Given the description of an element on the screen output the (x, y) to click on. 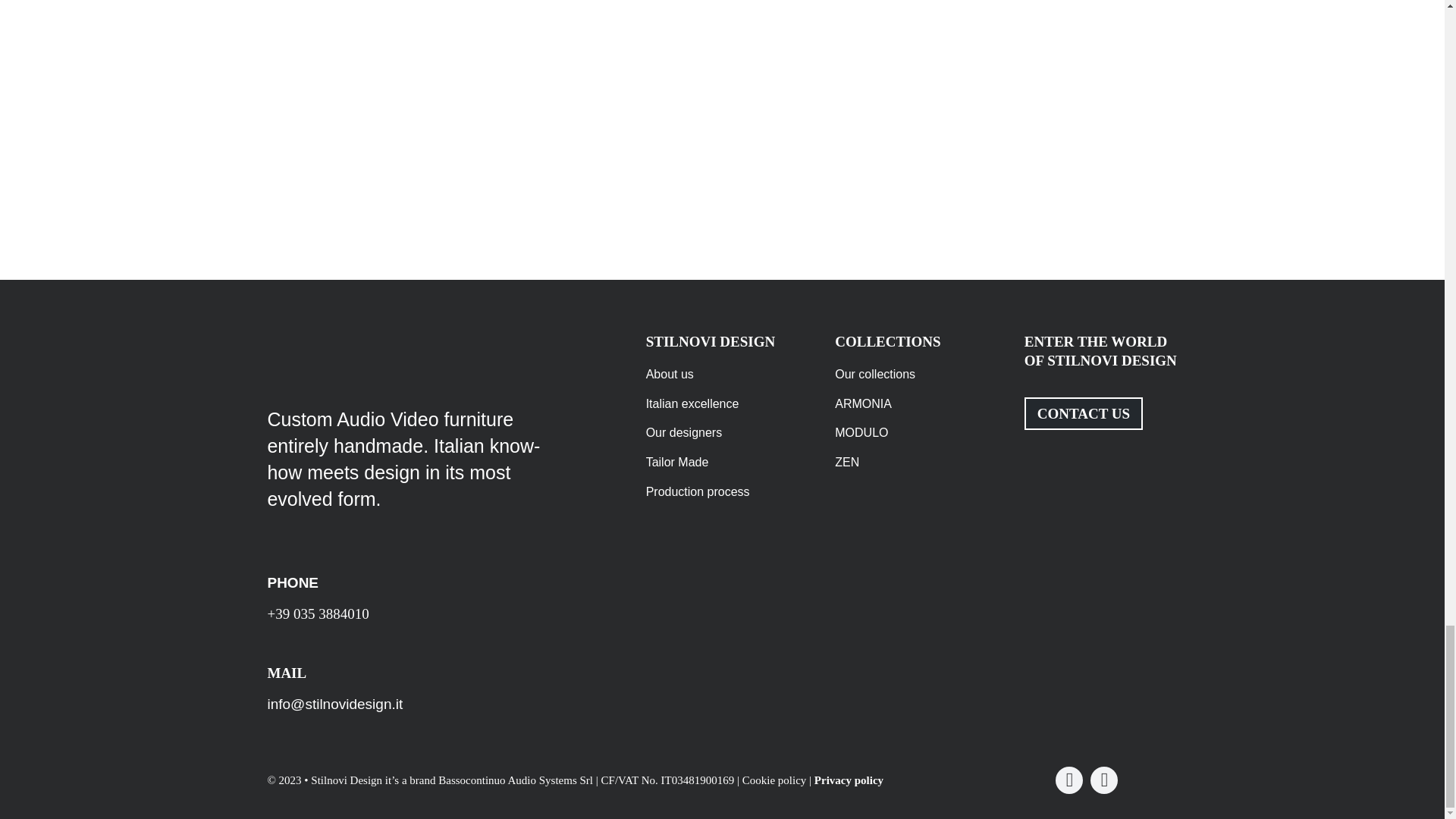
Instagram (1104, 779)
Our designers (722, 433)
ARMONIA (911, 404)
Our collections (911, 374)
Production process (722, 492)
Italian excellence (722, 404)
MODULO (911, 433)
About us (722, 374)
Facebook (1069, 779)
ZEN (911, 463)
